Given the description of an element on the screen output the (x, y) to click on. 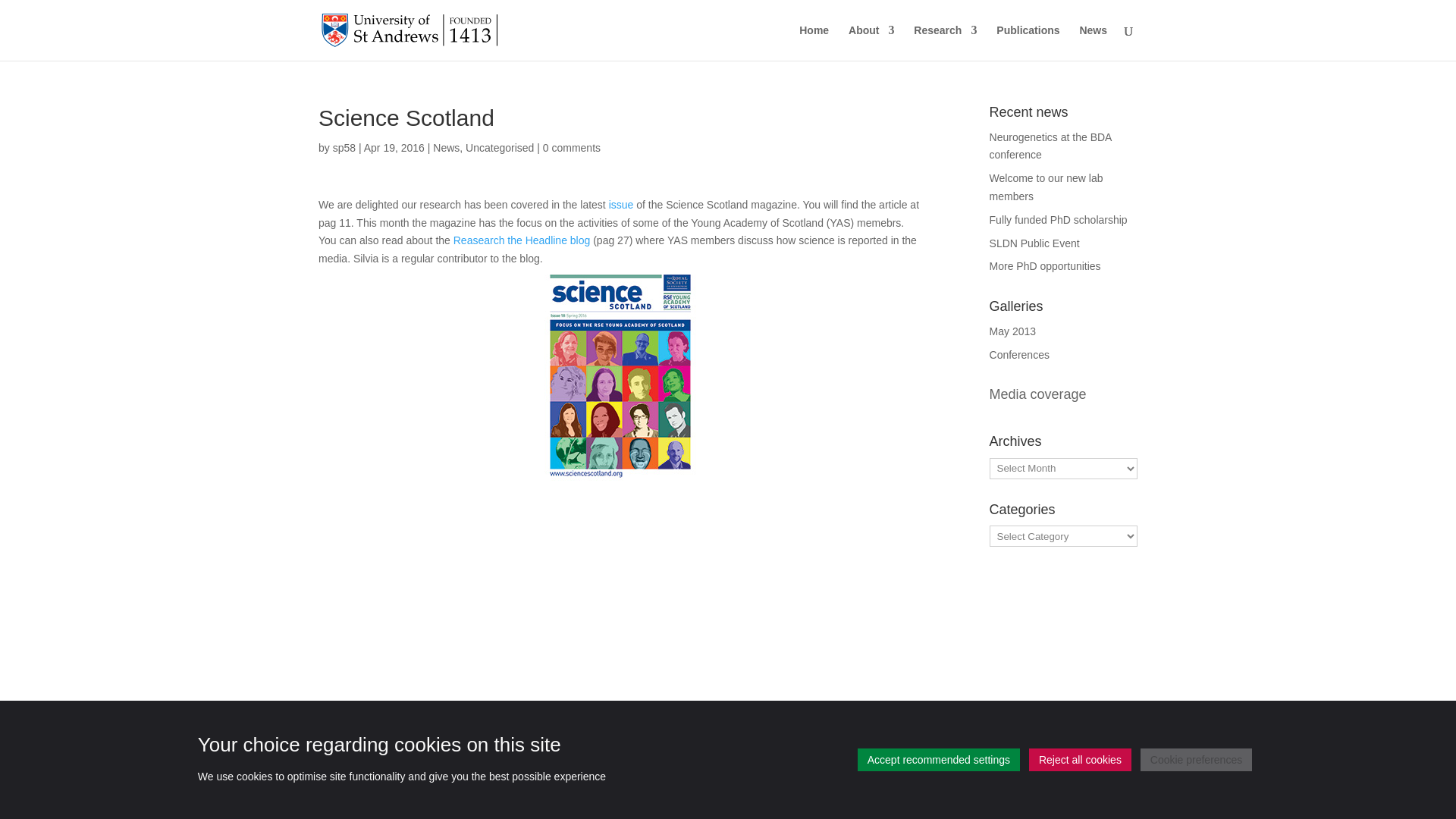
Posts by sp58 (344, 147)
sp58 (344, 147)
Fully funded PhD scholarship (1058, 219)
Welcome to our new lab members (1046, 186)
Reasearch the Headline blog (521, 240)
About (870, 42)
Neurogenetics at the BDA conference (1051, 146)
Research (945, 42)
0 comments (571, 147)
Publications (1027, 42)
SLDN Public Event (1035, 243)
issue (620, 204)
Uncategorised (499, 147)
News (446, 147)
